Given the description of an element on the screen output the (x, y) to click on. 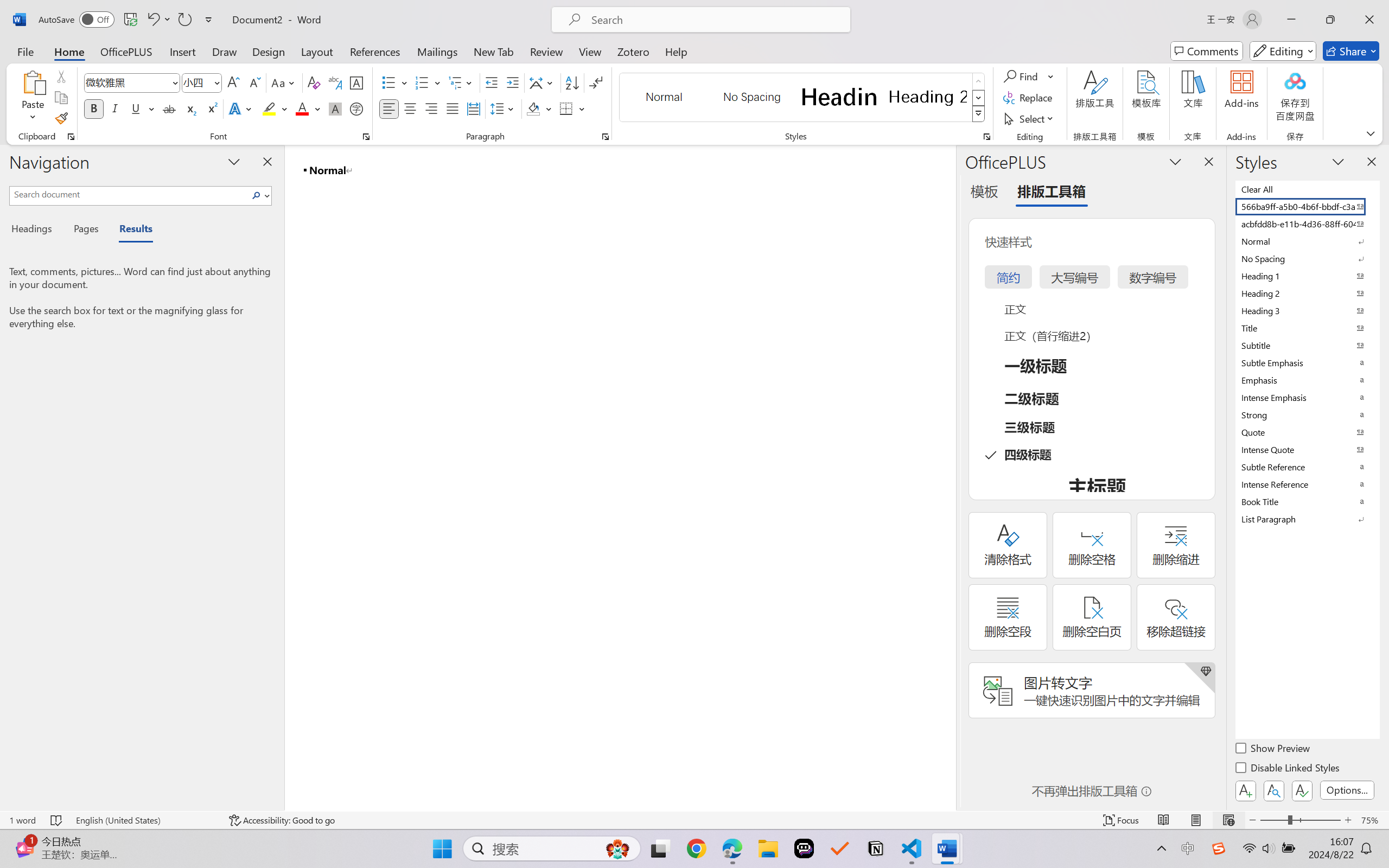
Clear Formatting (313, 82)
Zotero (632, 51)
Quick Access Toolbar (127, 19)
Spelling and Grammar Check No Errors (56, 819)
Bullets (388, 82)
Draw (224, 51)
Paste (33, 97)
Font Size (196, 82)
Restore Down (1330, 19)
Repeat Doc Close (184, 19)
